Given the description of an element on the screen output the (x, y) to click on. 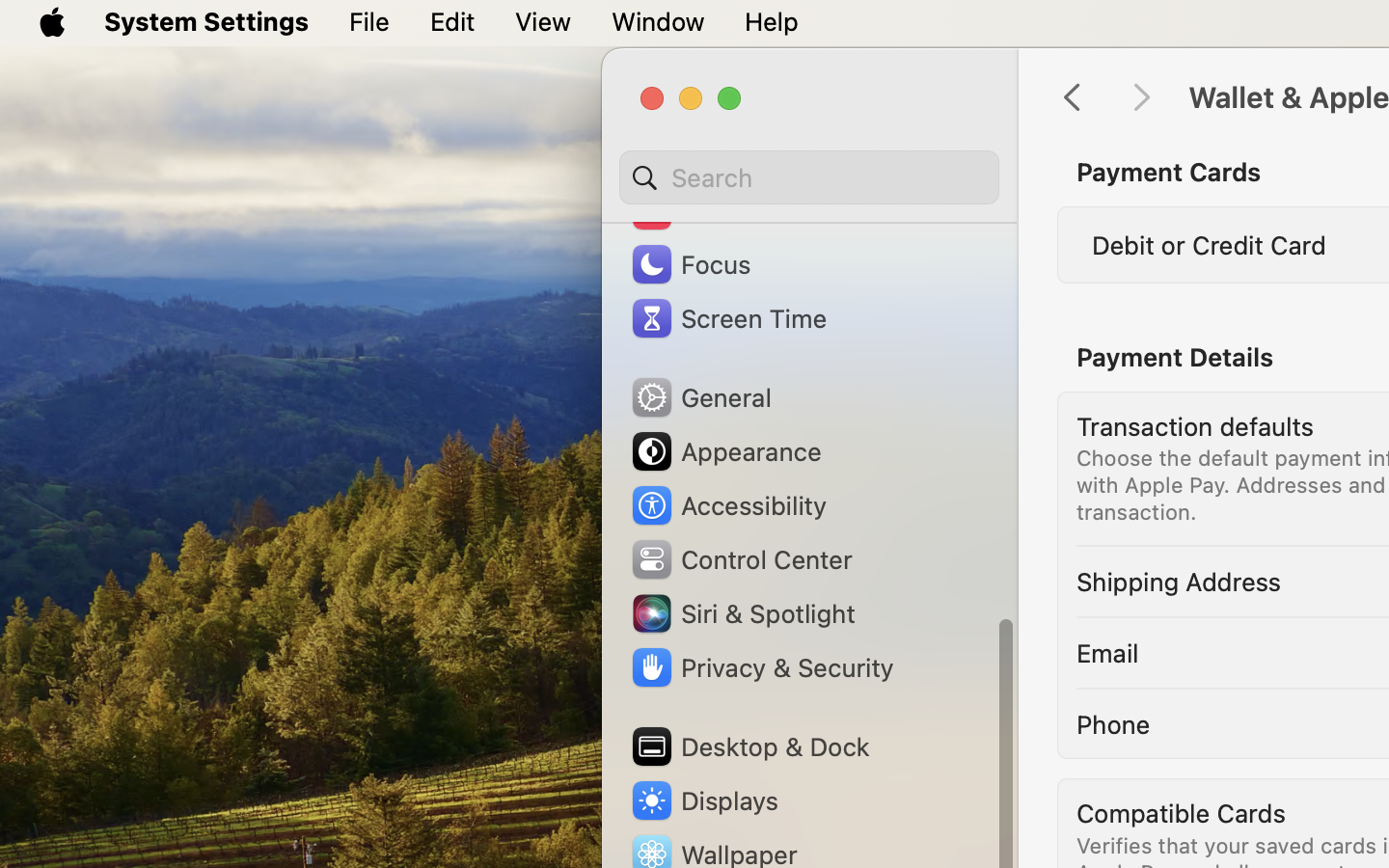
Compatible Cards Element type: AXStaticText (1181, 811)
Privacy & Security Element type: AXStaticText (760, 667)
